Given the description of an element on the screen output the (x, y) to click on. 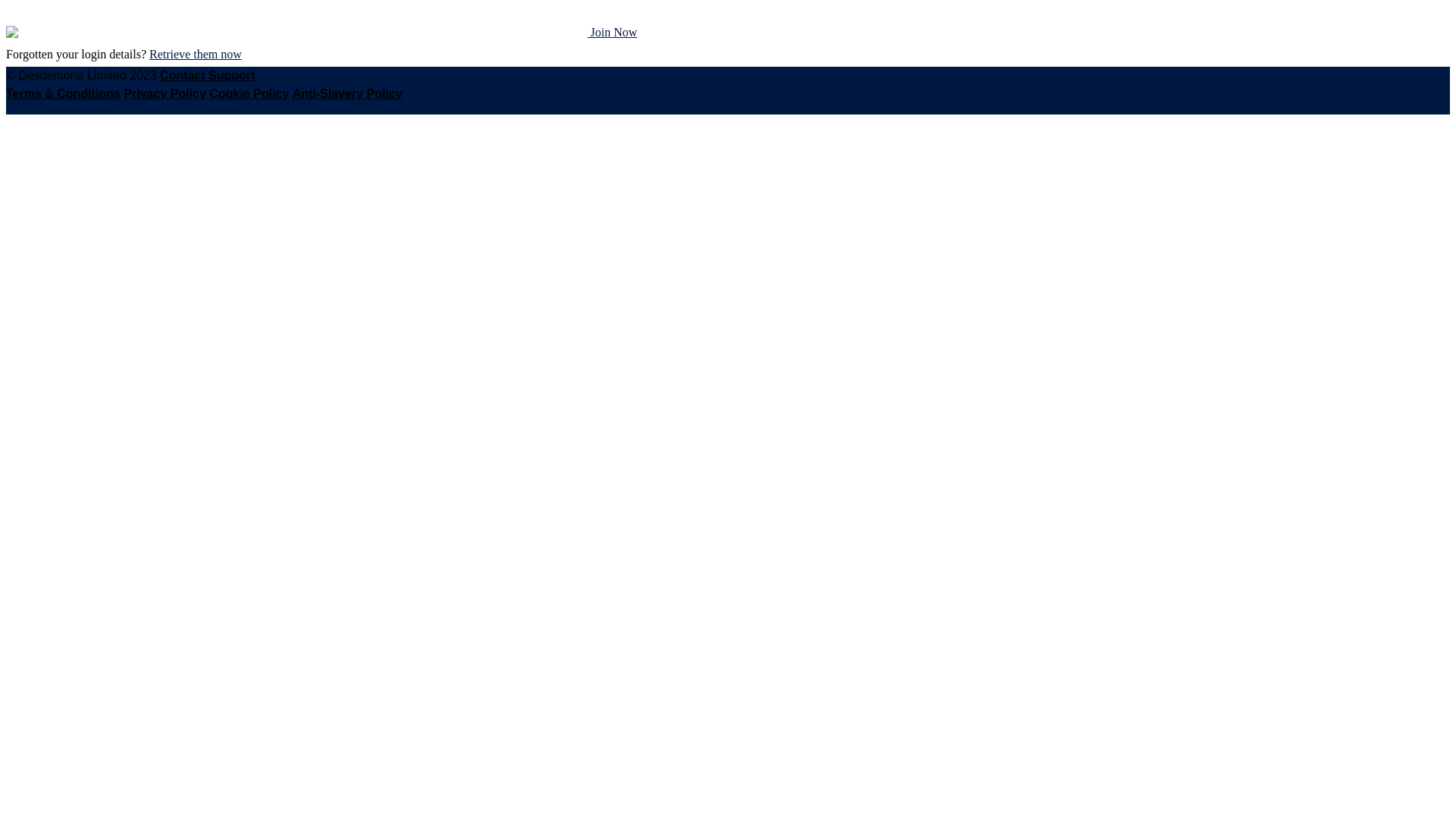
Privacy Policy Element type: text (164, 93)
Retrieve them now Element type: text (195, 53)
 Join Now Element type: text (612, 31)
Anti-Slavery Policy Element type: text (347, 93)
Contact Support Element type: text (207, 75)
Cookie Policy Element type: text (248, 93)
Terms & Conditions Element type: text (63, 93)
